Given the description of an element on the screen output the (x, y) to click on. 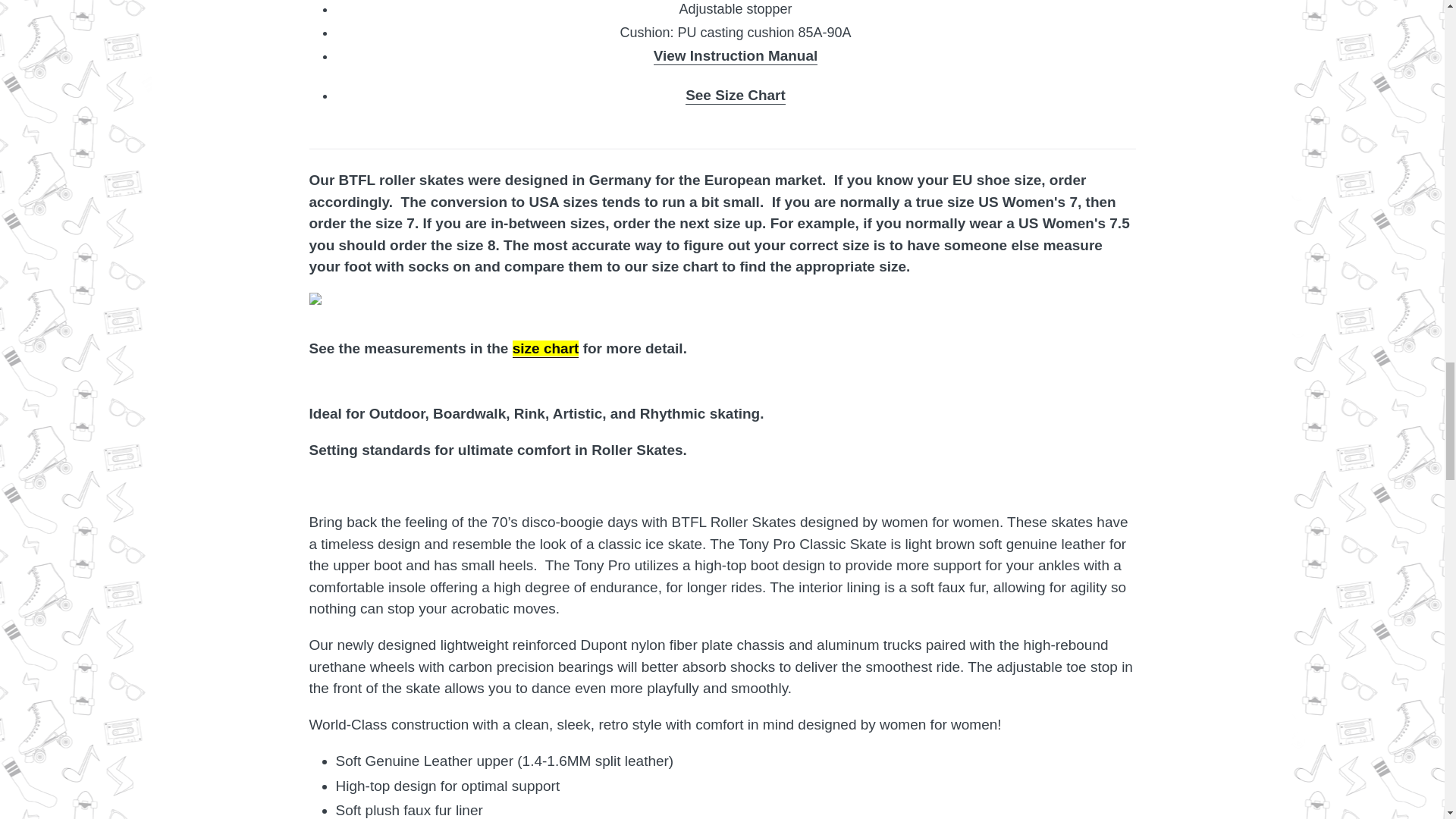
BTFL Roller Skate Size Chart (735, 95)
BTFL Roller Sakes instruction Manual page 1 (734, 56)
BTFL Roller Skate Size Chart (545, 348)
